Given the description of an element on the screen output the (x, y) to click on. 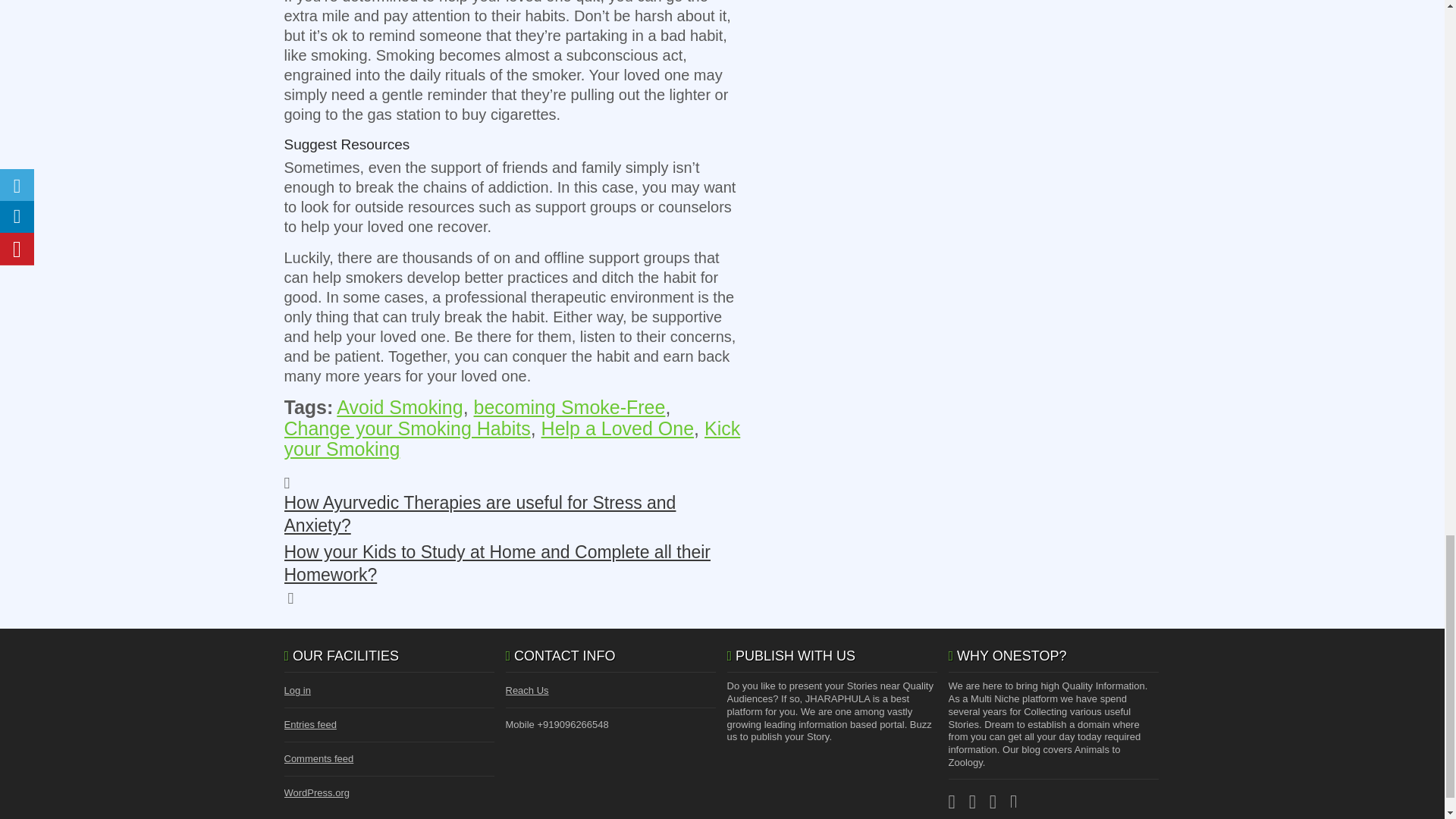
Change your Smoking Habits (406, 427)
becoming Smoke-Free (569, 406)
Avoid Smoking (399, 406)
